Given the description of an element on the screen output the (x, y) to click on. 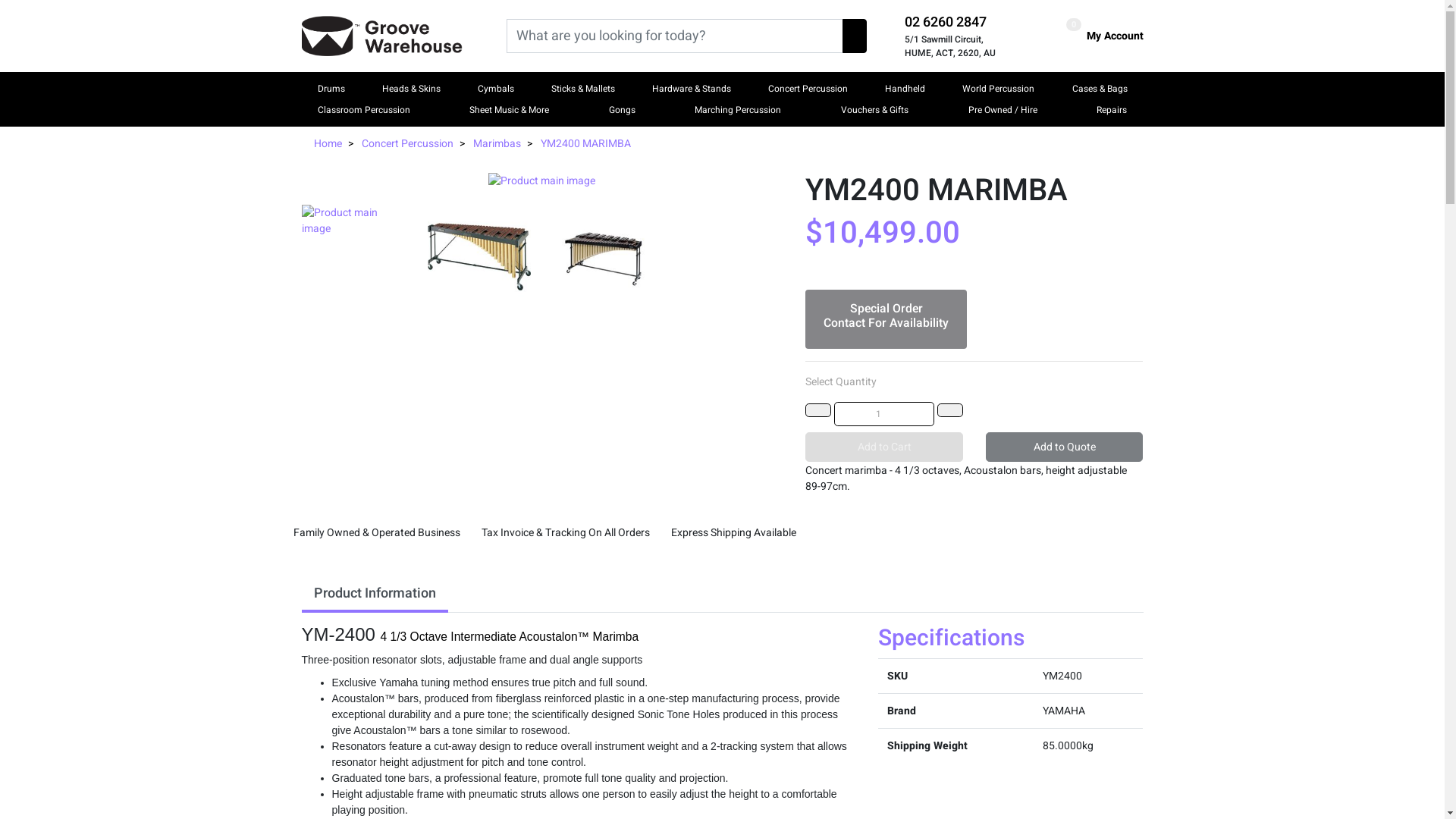
0
Toggle Dropdown Element type: text (1073, 27)
Product Information Element type: text (374, 594)
Sheet Music & More Element type: text (509, 109)
Product alt image 1 Element type: hover (478, 256)
Groove Warehouse Element type: hover (381, 35)
Cymbals Element type: text (495, 88)
Cases & Bags Element type: text (1099, 88)
Skip to main content Element type: text (0, 0)
Product main image Element type: hover (352, 220)
Product alt image 2 Element type: hover (604, 256)
Add to Cart Element type: text (884, 446)
Product main image Element type: hover (542, 180)
Heads & Skins Element type: text (411, 88)
Concert Percussion Element type: text (807, 88)
My Account Element type: text (1110, 35)
Home Element type: text (327, 143)
Search Element type: text (853, 35)
Add to Quote Element type: text (1064, 446)
Hardware & Stands Element type: text (691, 88)
Pre Owned / Hire Element type: text (1002, 109)
Gongs Element type: text (621, 109)
Handheld Element type: text (904, 88)
YM2400 MARIMBA Element type: text (584, 143)
Marimbas Element type: text (496, 143)
Vouchers & Gifts Element type: text (874, 109)
Repairs Element type: text (1111, 109)
02 6260 2847 Element type: text (944, 22)
Concert Percussion Element type: text (406, 143)
Drums Element type: text (330, 88)
Classroom Percussion Element type: text (362, 109)
World Percussion Element type: text (998, 88)
Sticks & Mallets Element type: text (583, 88)
Marching Percussion Element type: text (737, 109)
